Given the description of an element on the screen output the (x, y) to click on. 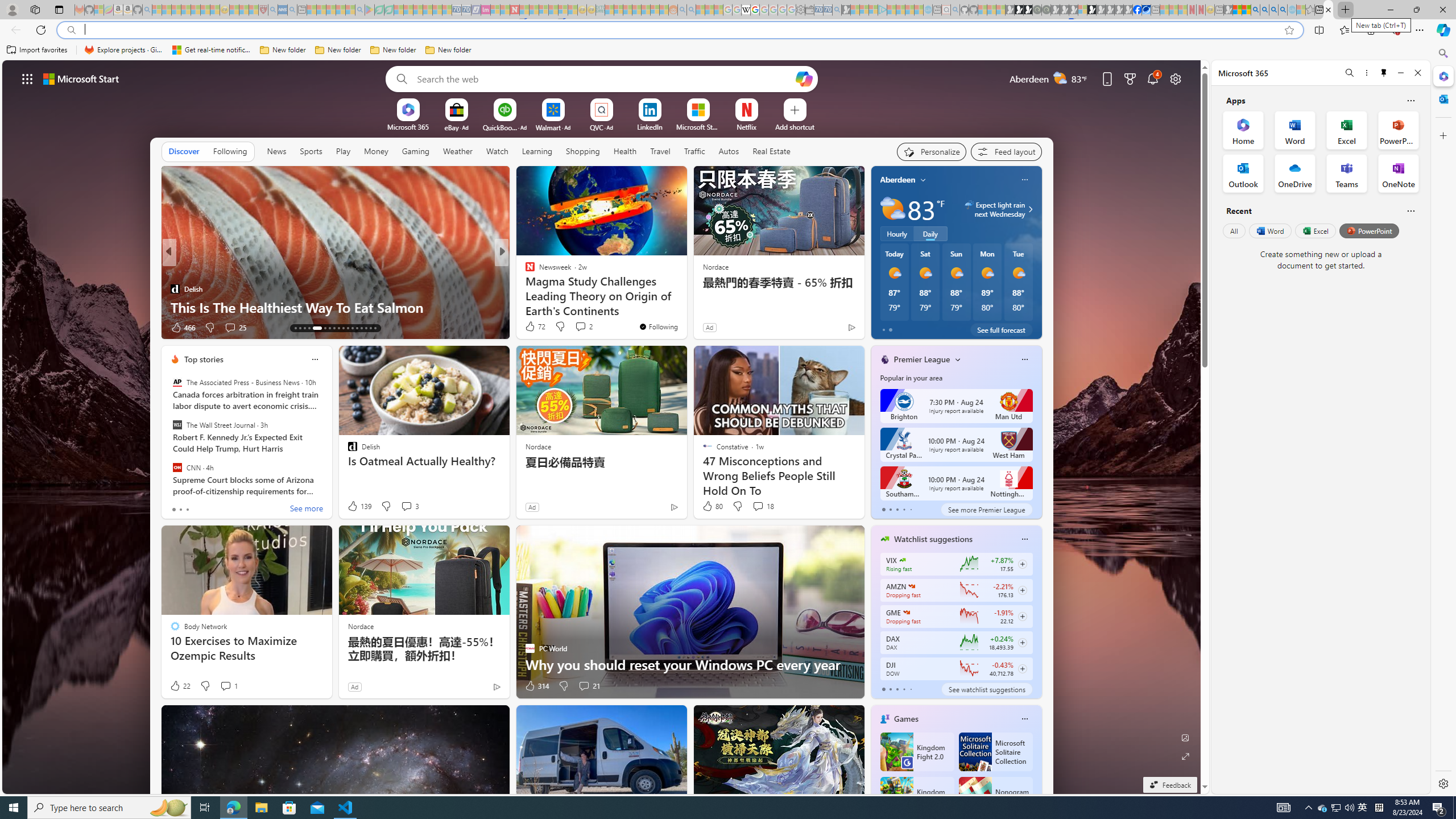
Play Zoo Boom in your browser | Games from Microsoft Start (1018, 9)
